Given the description of an element on the screen output the (x, y) to click on. 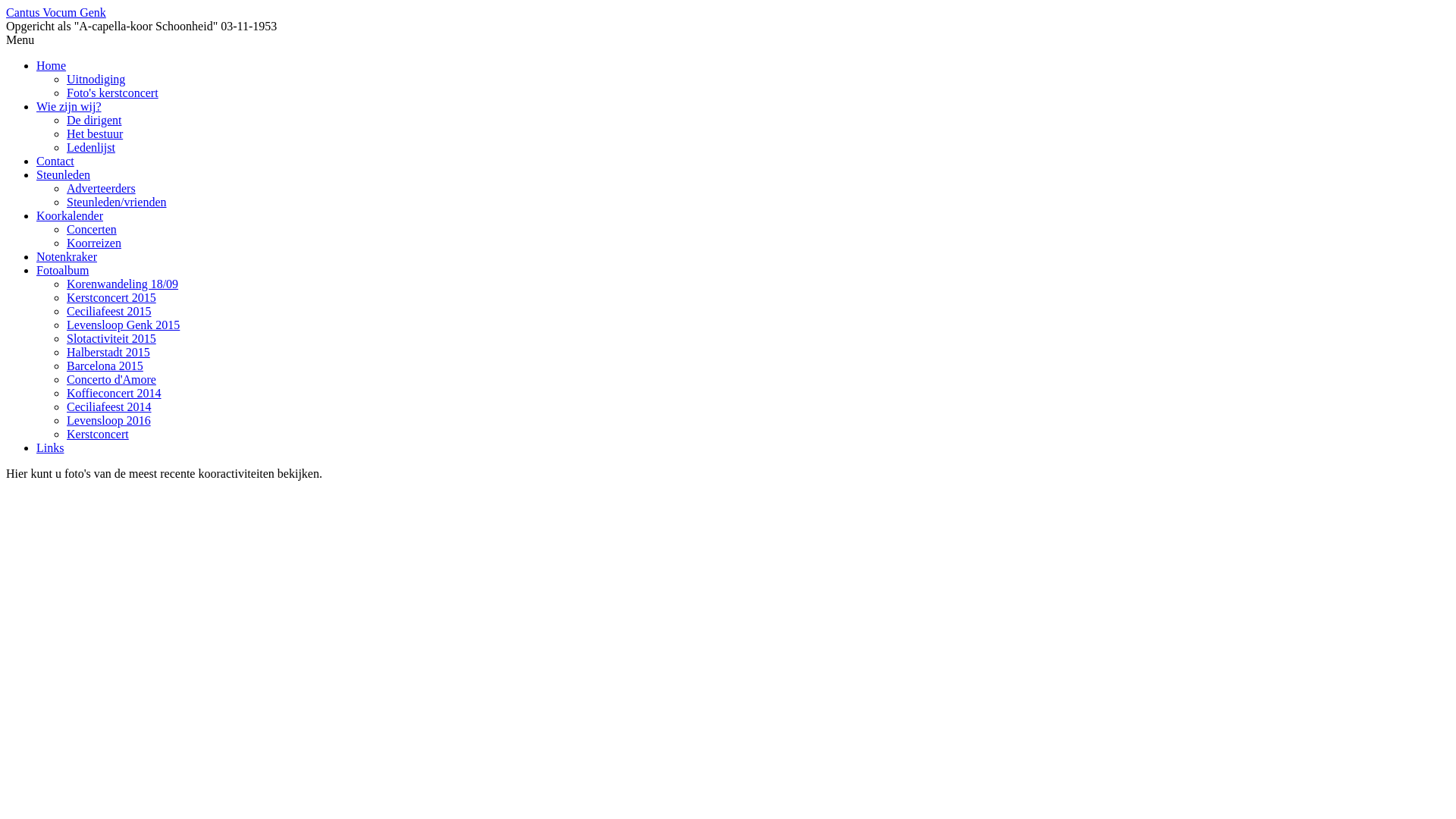
Notenkraker Element type: text (66, 256)
Koorreizen Element type: text (93, 242)
Koorkalender Element type: text (69, 215)
Halberstadt 2015 Element type: text (108, 351)
Barcelona 2015 Element type: text (104, 365)
Levensloop 2016 Element type: text (108, 420)
Contact Element type: text (55, 160)
Korenwandeling 18/09 Element type: text (122, 283)
Kerstconcert Element type: text (97, 433)
De dirigent Element type: text (93, 119)
Foto's kerstconcert Element type: text (112, 92)
Links Element type: text (49, 447)
Ceciliafeest 2014 Element type: text (108, 406)
Het bestuur Element type: text (94, 133)
Home Element type: text (50, 65)
Concerto d'Amore Element type: text (111, 379)
Wie zijn wij? Element type: text (68, 106)
Ceciliafeest 2015 Element type: text (108, 310)
Ledenlijst Element type: text (90, 147)
Steunleden Element type: text (63, 174)
Koffieconcert 2014 Element type: text (113, 392)
Adverteerders Element type: text (100, 188)
Menu Element type: text (20, 39)
Cantus Vocum Genk Element type: text (56, 12)
Fotoalbum Element type: text (62, 269)
Slotactiviteit 2015 Element type: text (111, 338)
Levensloop Genk 2015 Element type: text (122, 324)
Uitnodiging Element type: text (95, 78)
Concerten Element type: text (91, 228)
Steunleden/vrienden Element type: text (116, 201)
Kerstconcert 2015 Element type: text (111, 297)
